Given the description of an element on the screen output the (x, y) to click on. 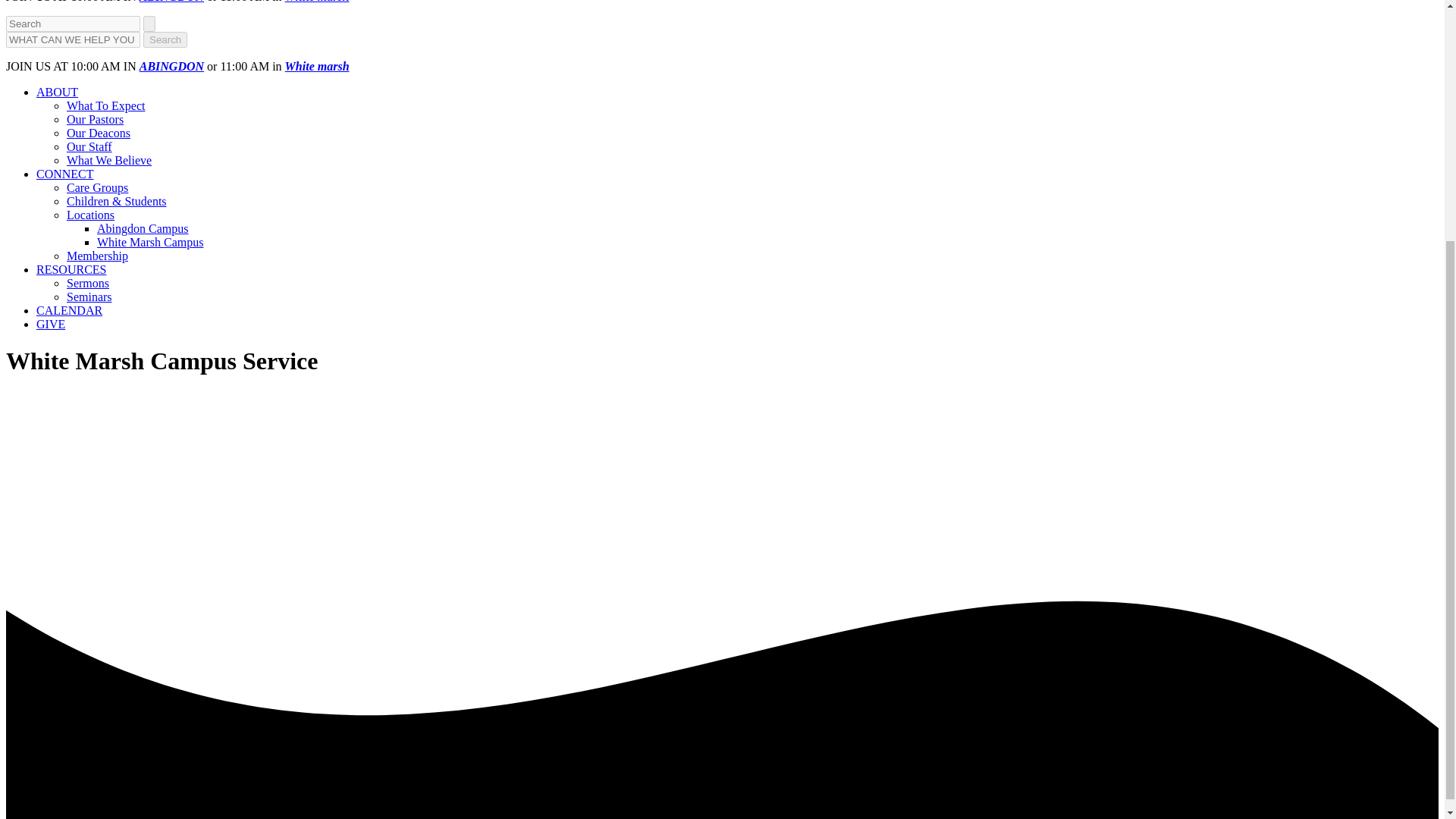
Search (164, 39)
Our Pastors (94, 119)
Abingdon Campus (142, 228)
ABINGDON (171, 1)
White marsh (317, 1)
What We Believe (108, 160)
White marsh (317, 65)
Locations (90, 214)
ABINGDON (171, 65)
Care Groups (97, 187)
Search (164, 39)
Our Deacons (98, 132)
Search (164, 39)
CONNECT (65, 173)
ABOUT (57, 91)
